Given the description of an element on the screen output the (x, y) to click on. 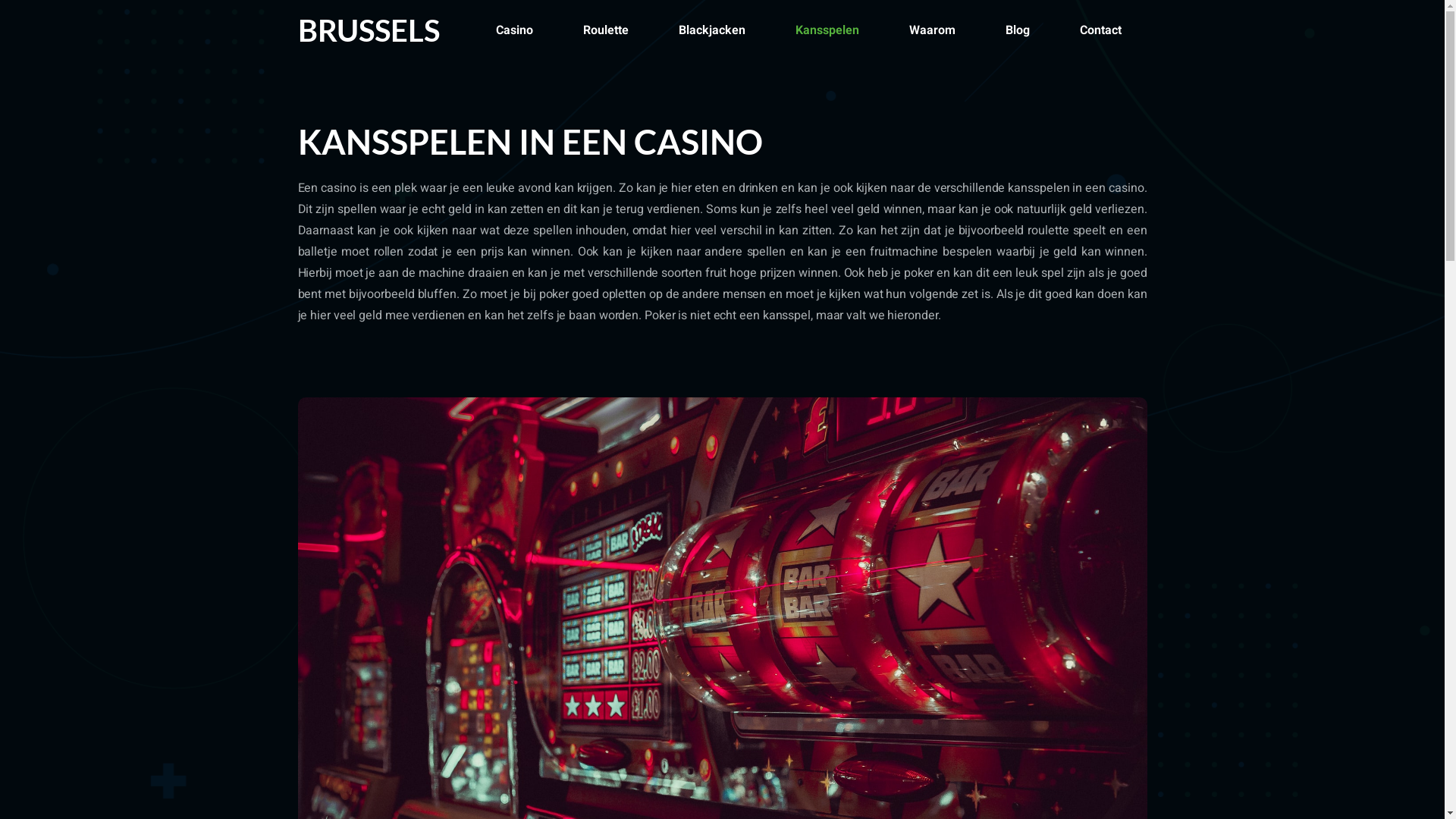
Roulette Element type: text (605, 30)
Contact Element type: text (1100, 30)
Kansspelen Element type: text (827, 30)
Waarom Element type: text (932, 30)
BRUSSELS Element type: text (368, 30)
Blog Element type: text (1017, 30)
Casino Element type: text (513, 30)
Blackjacken Element type: text (711, 30)
